Given the description of an element on the screen output the (x, y) to click on. 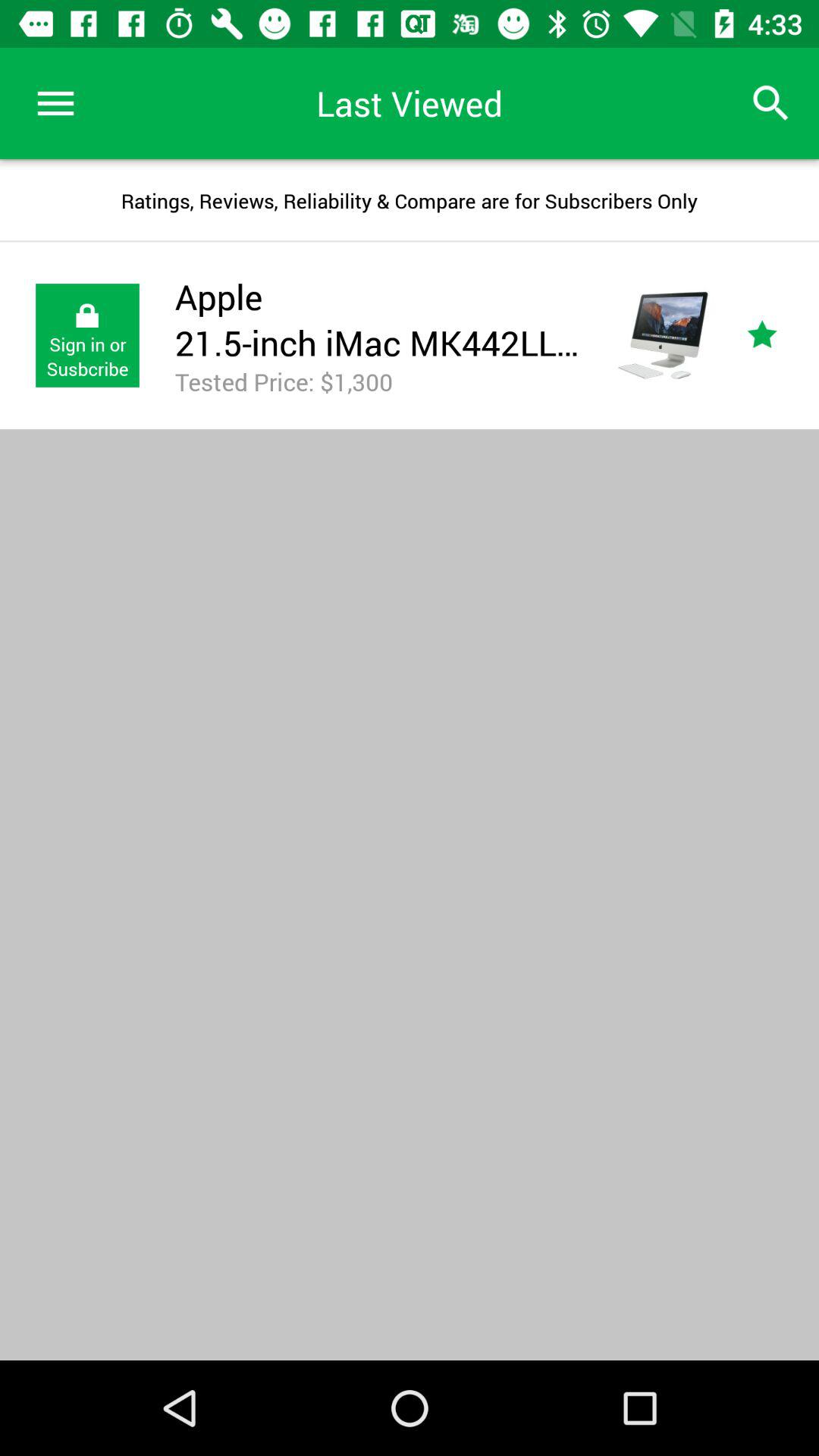
favorite this item (779, 335)
